Given the description of an element on the screen output the (x, y) to click on. 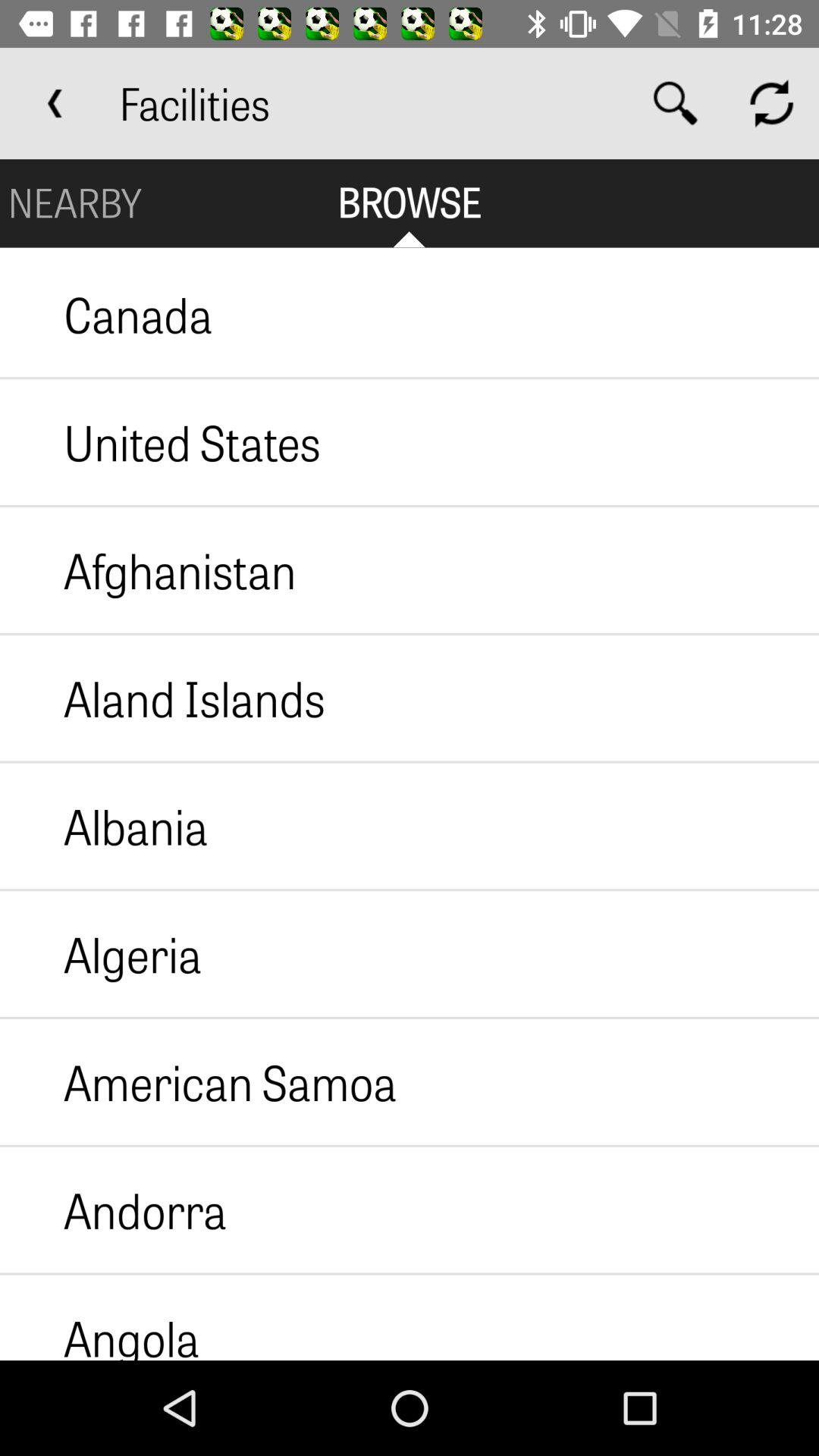
press aland islands (162, 697)
